Given the description of an element on the screen output the (x, y) to click on. 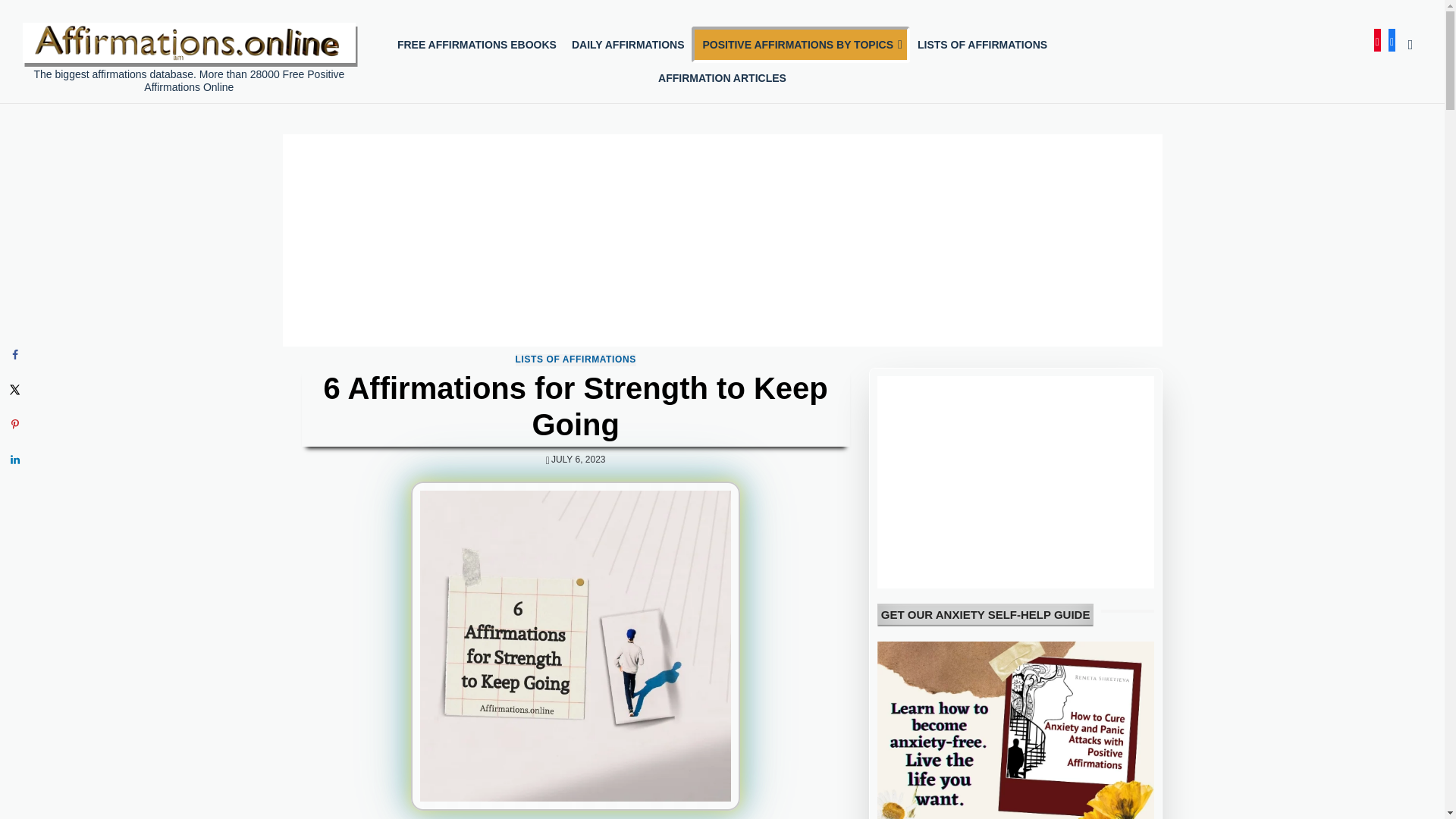
POSITIVE AFFIRMATIONS BY TOPICS (800, 44)
DAILY AFFIRMATIONS (628, 44)
FREE AFFIRMATIONS EBOOKS (477, 44)
